Given the description of an element on the screen output the (x, y) to click on. 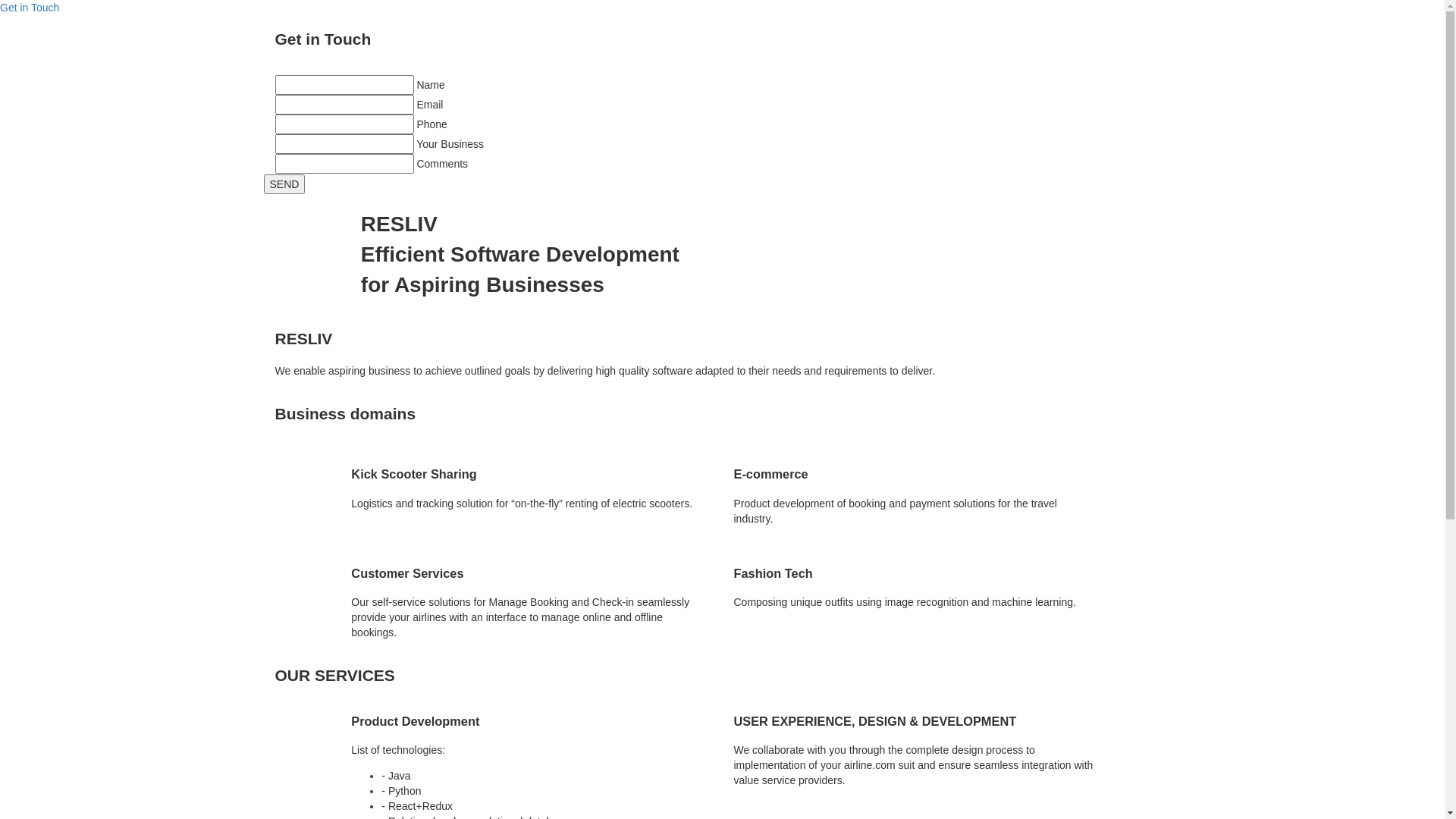
Get in Touch Element type: text (29, 7)
SEND Element type: text (284, 184)
